Given the description of an element on the screen output the (x, y) to click on. 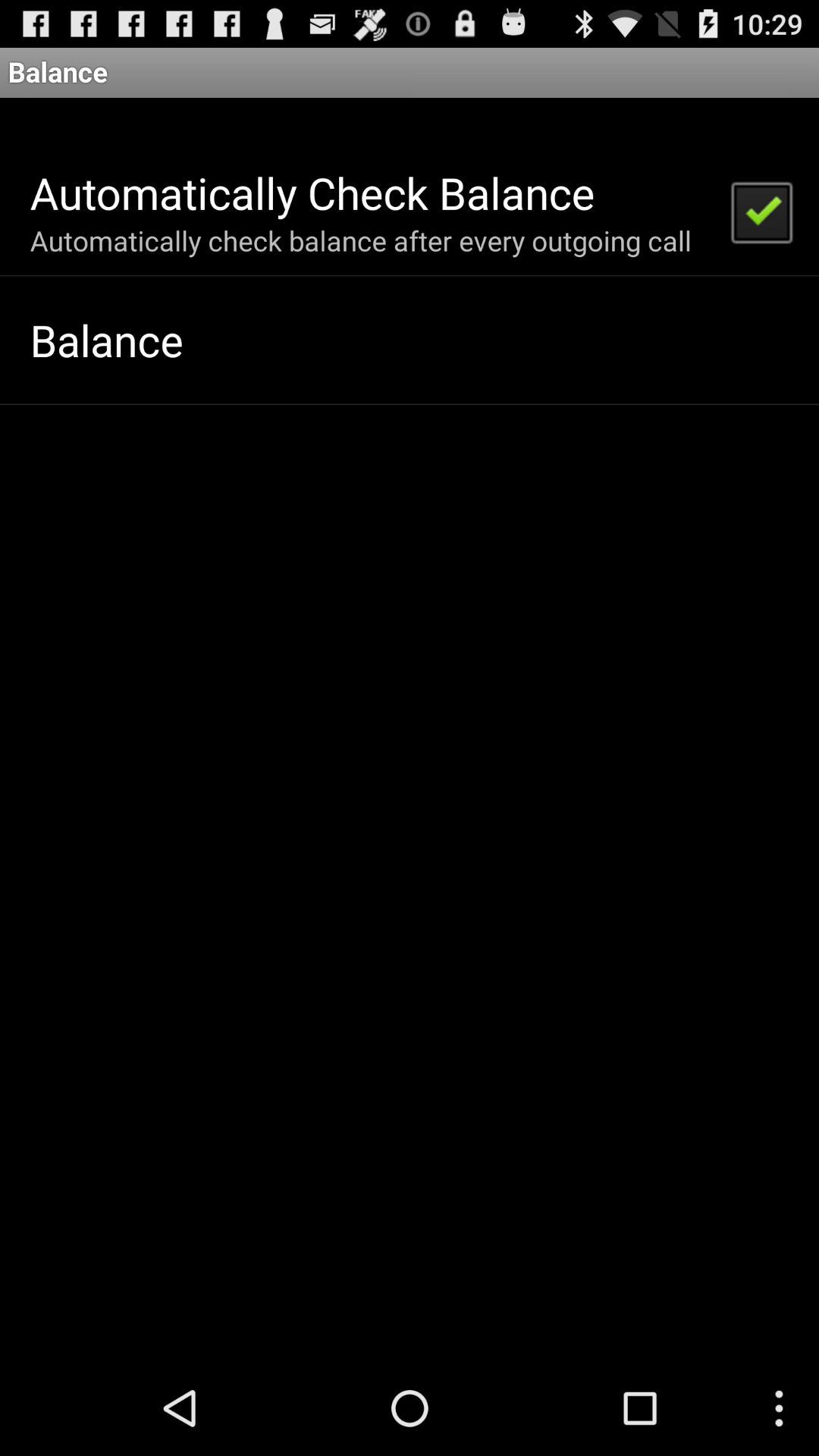
choose item below balance app (761, 211)
